Given the description of an element on the screen output the (x, y) to click on. 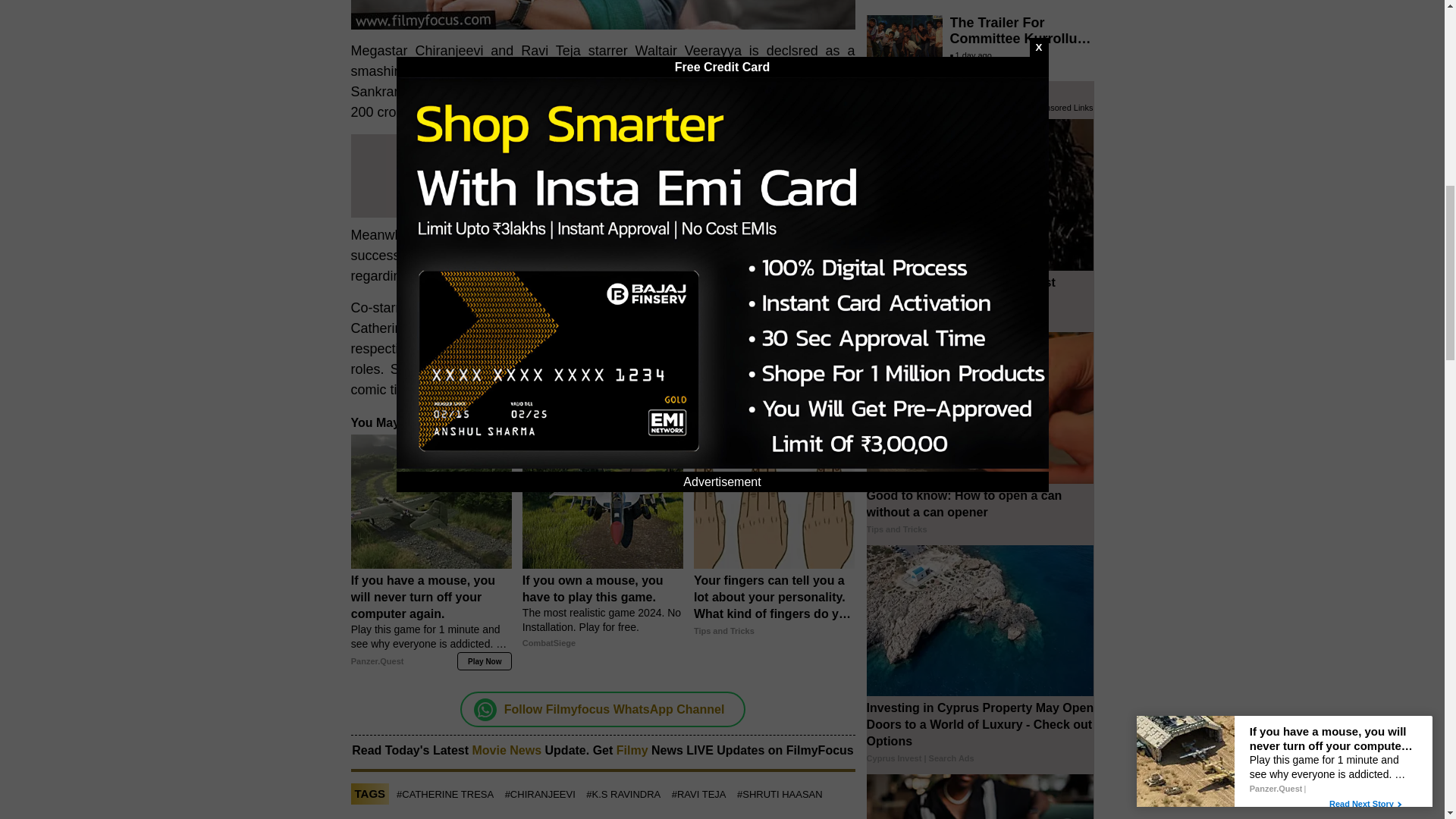
by Taboola (833, 421)
Sponsored Links (780, 421)
